Given the description of an element on the screen output the (x, y) to click on. 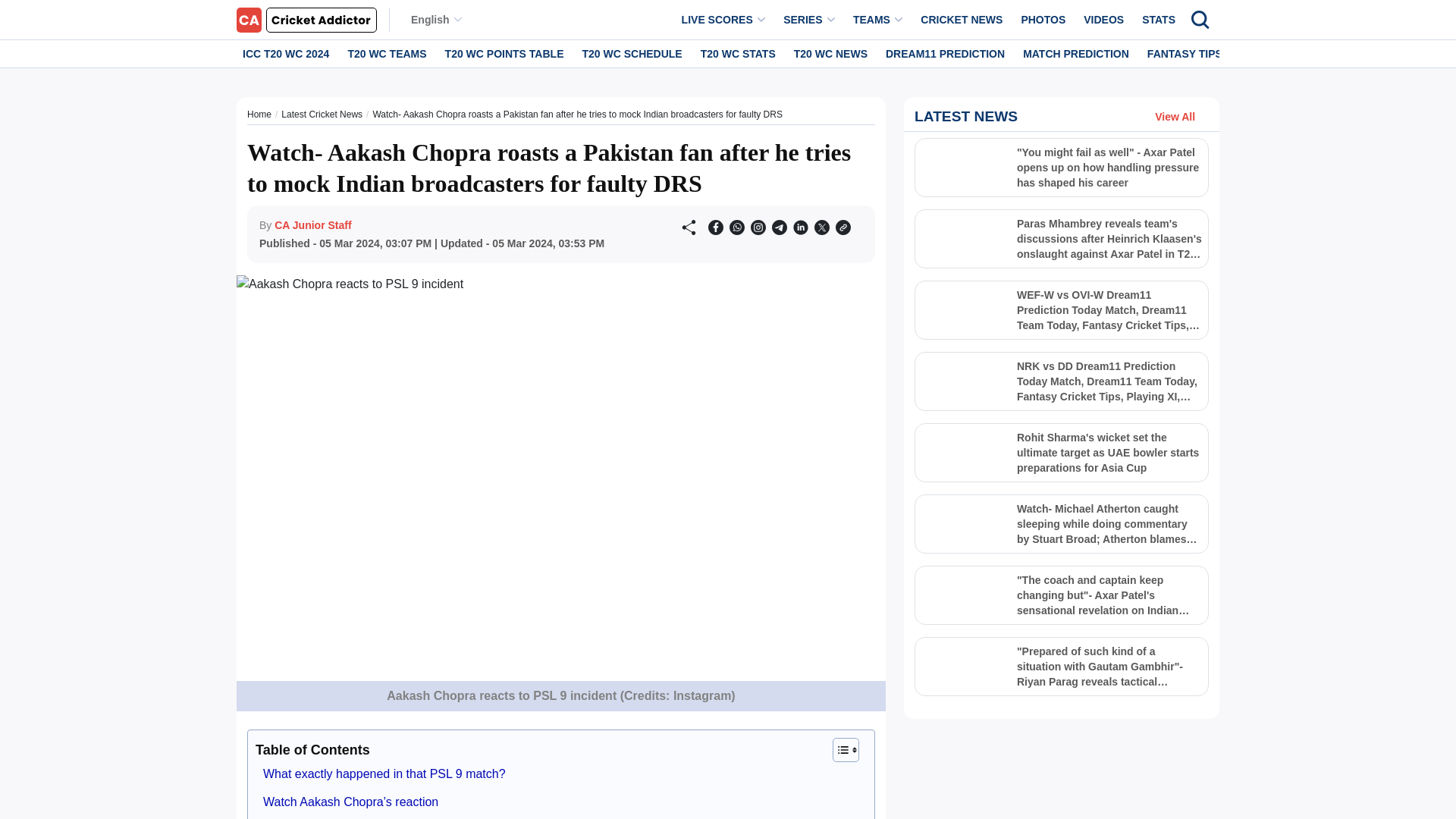
SERIES (809, 19)
T20 WC POINTS TABLE (504, 53)
CRICKET NEWS (961, 19)
VIDEOS (1103, 19)
LIVE SCORES (723, 19)
PHOTOS (1042, 19)
STATS (1157, 19)
ICC T20 WC 2024 (284, 53)
T20 WC TEAMS (386, 53)
TEAMS (877, 19)
What exactly happened in that PSL 9 match? (384, 773)
English (435, 19)
